Given the description of an element on the screen output the (x, y) to click on. 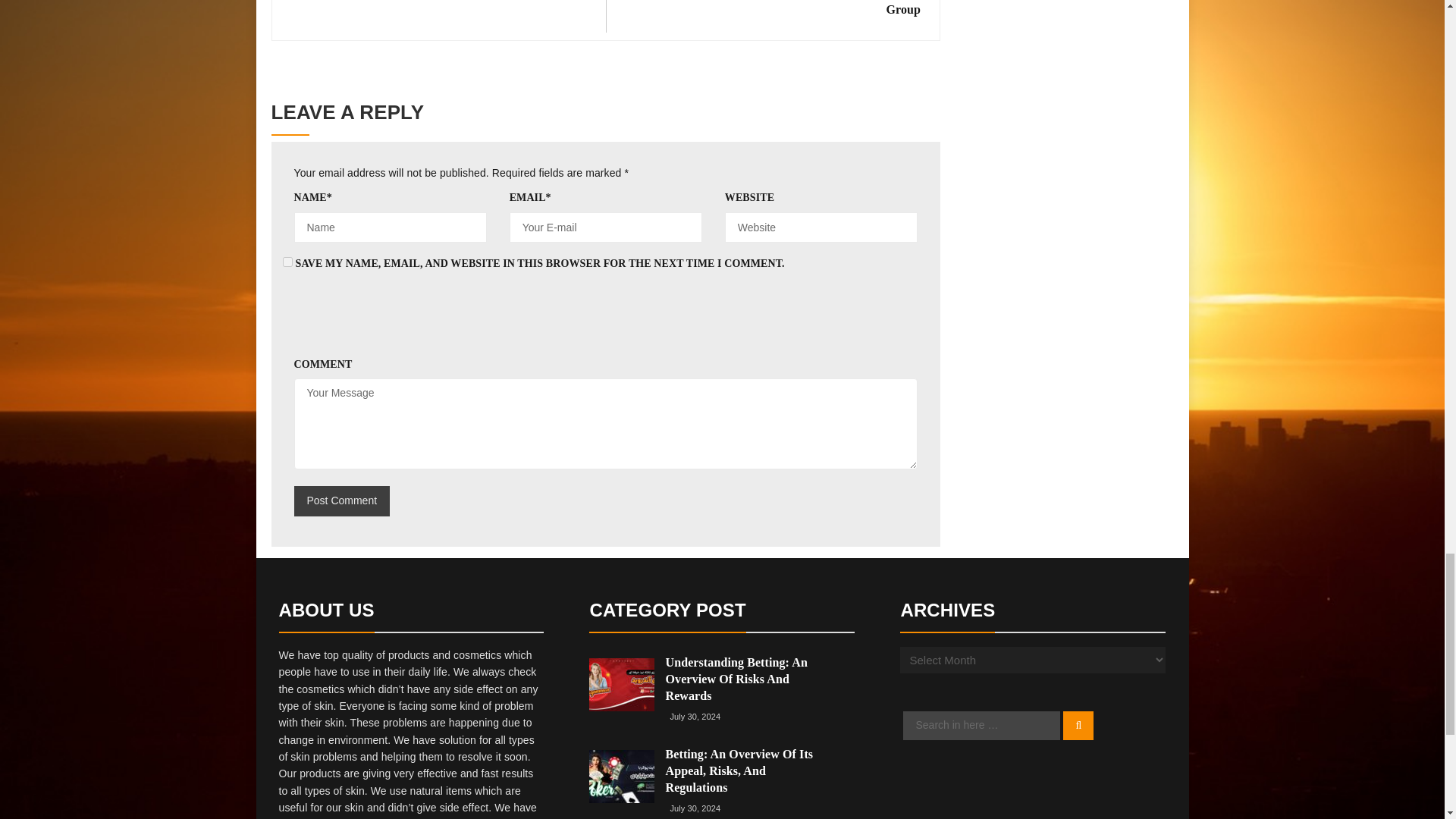
Post Comment (342, 501)
yes (287, 261)
reCAPTCHA (409, 321)
